Given the description of an element on the screen output the (x, y) to click on. 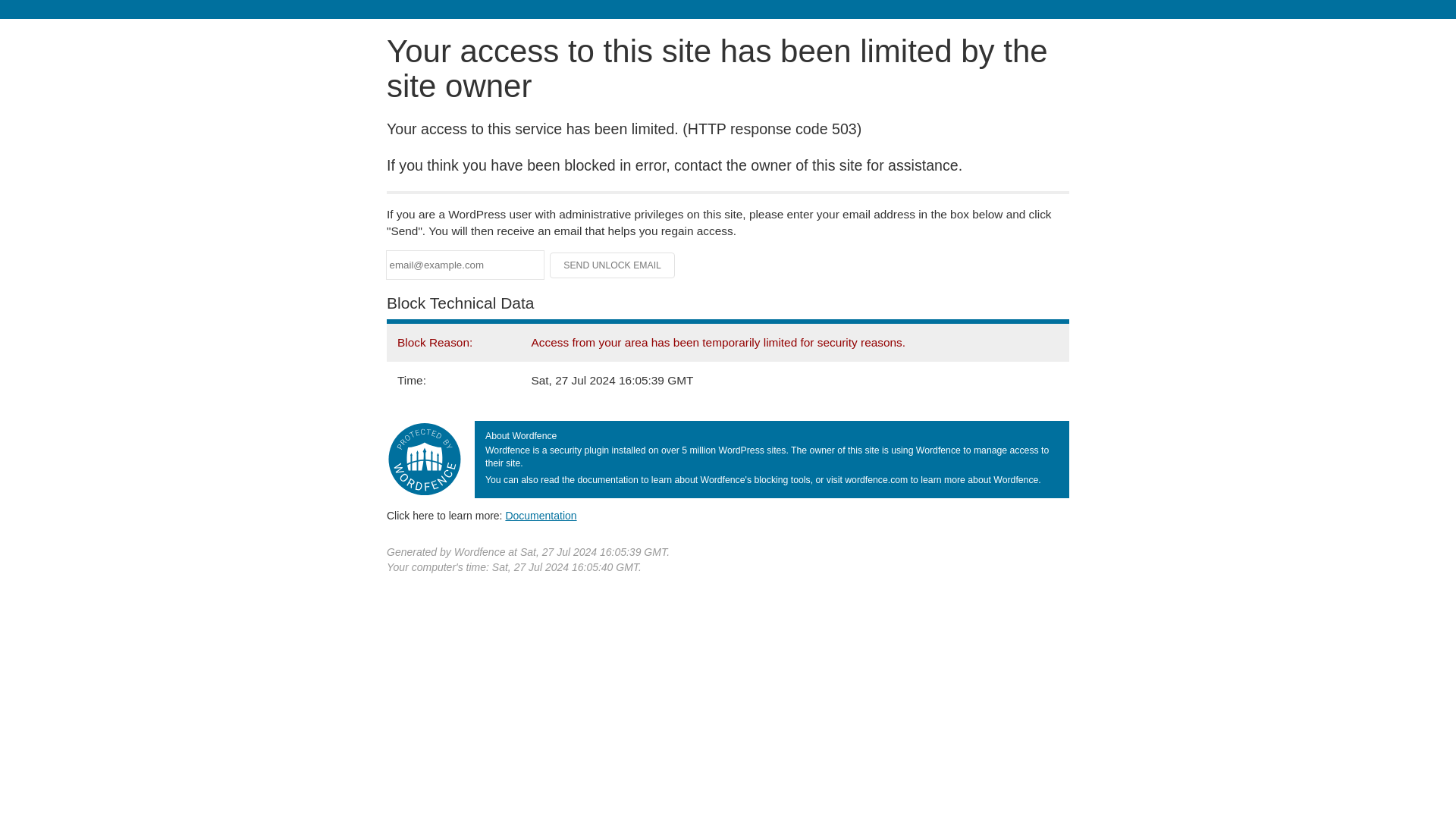
Send Unlock Email (612, 265)
Send Unlock Email (612, 265)
Documentation (540, 515)
